Given the description of an element on the screen output the (x, y) to click on. 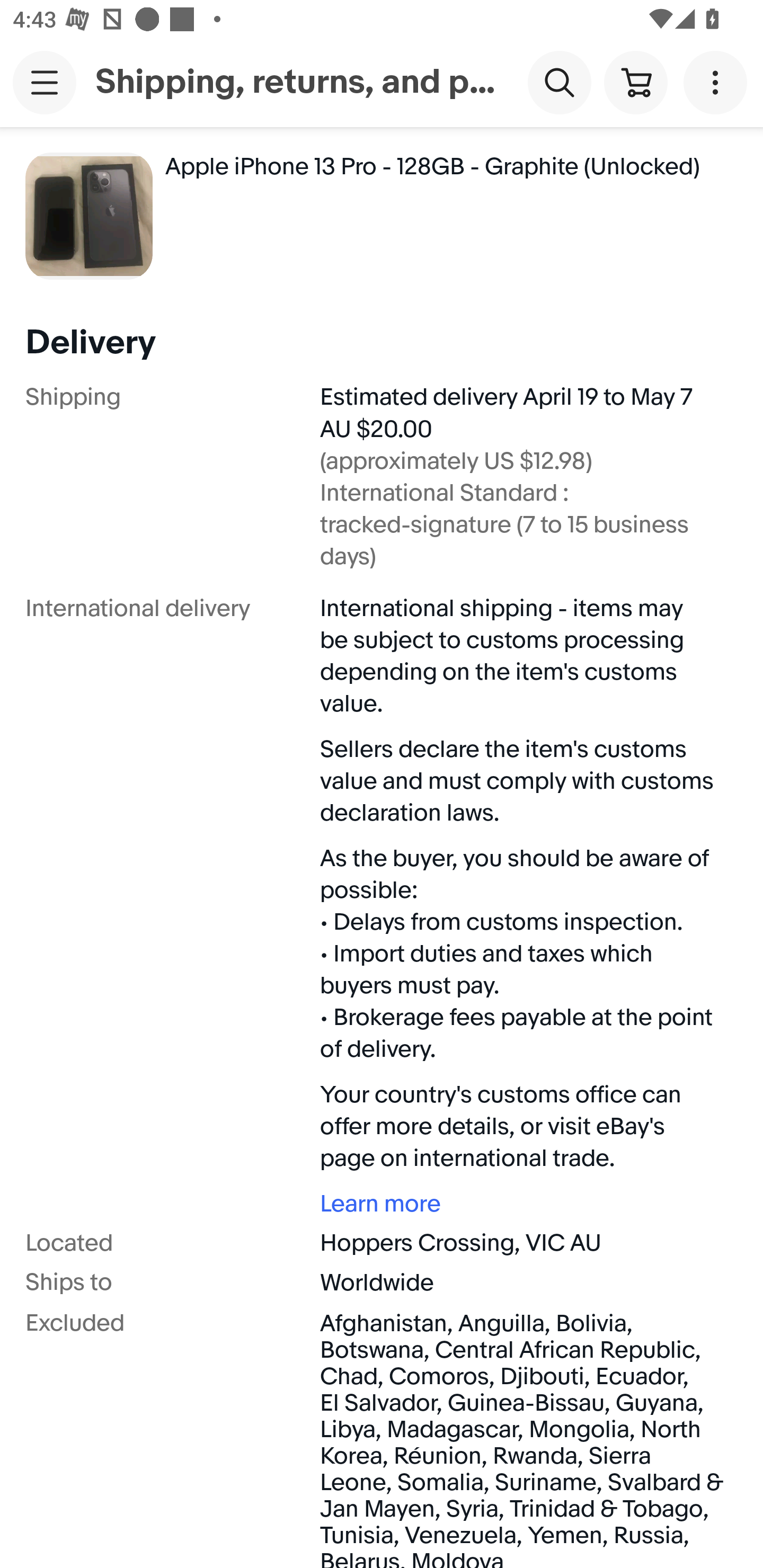
Main navigation, open (44, 82)
Search (559, 81)
Cart button shopping cart (635, 81)
More options (718, 81)
Learn more Learn more - international delivery (521, 1203)
